Given the description of an element on the screen output the (x, y) to click on. 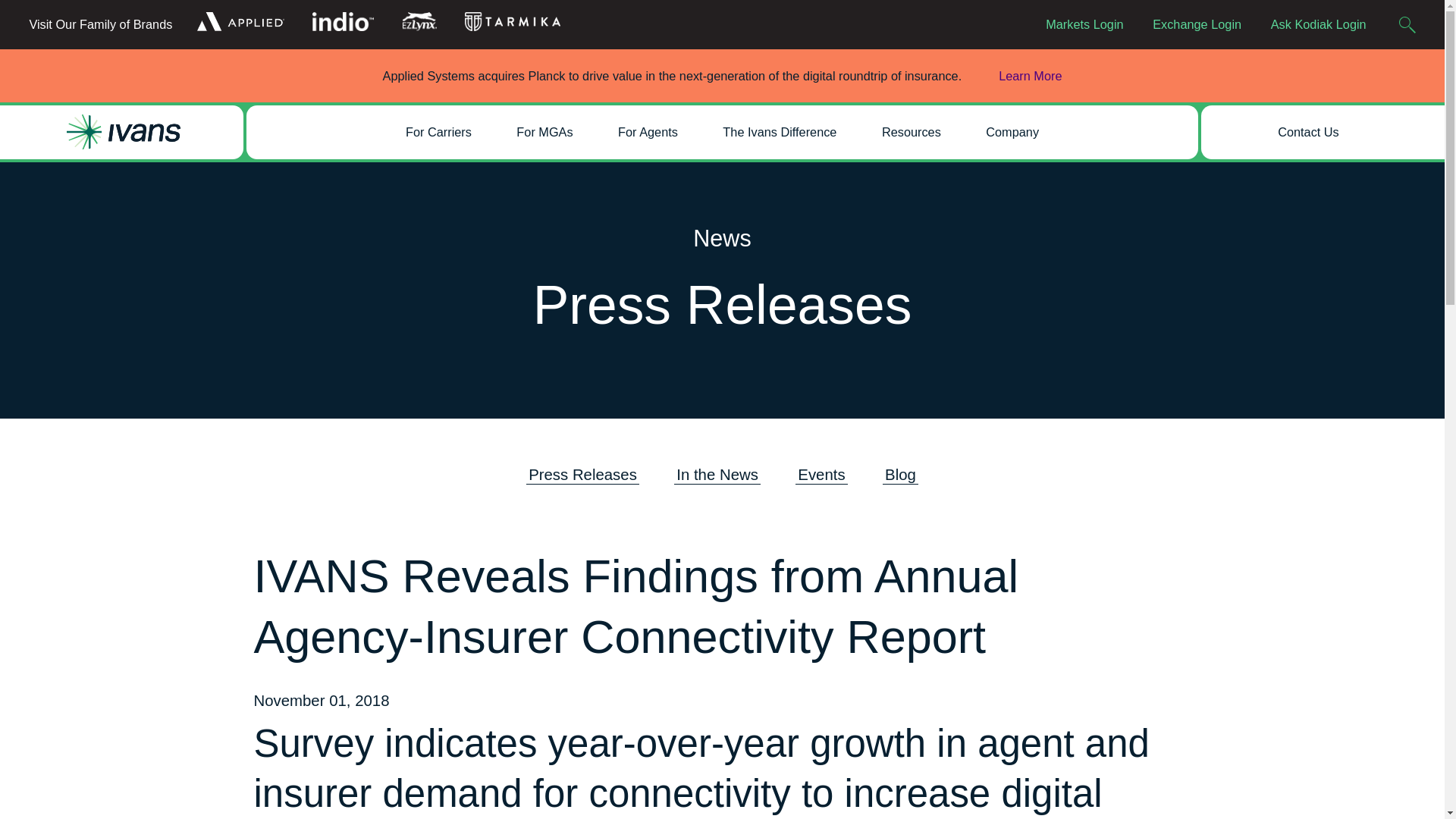
Ivans Exchange (656, 12)
View Now (933, 119)
Search (1407, 24)
Ask Kodiak Login (1318, 24)
Exchange Login (1196, 24)
Home (123, 131)
Ivans eServicing (658, 1)
EZLynx (419, 21)
Markets Login (1084, 24)
Exchange Login (1196, 24)
Markets Login (1084, 24)
Indio (343, 21)
Learn More (1014, 75)
Learn More (1014, 75)
Applied Systems (240, 21)
